Given the description of an element on the screen output the (x, y) to click on. 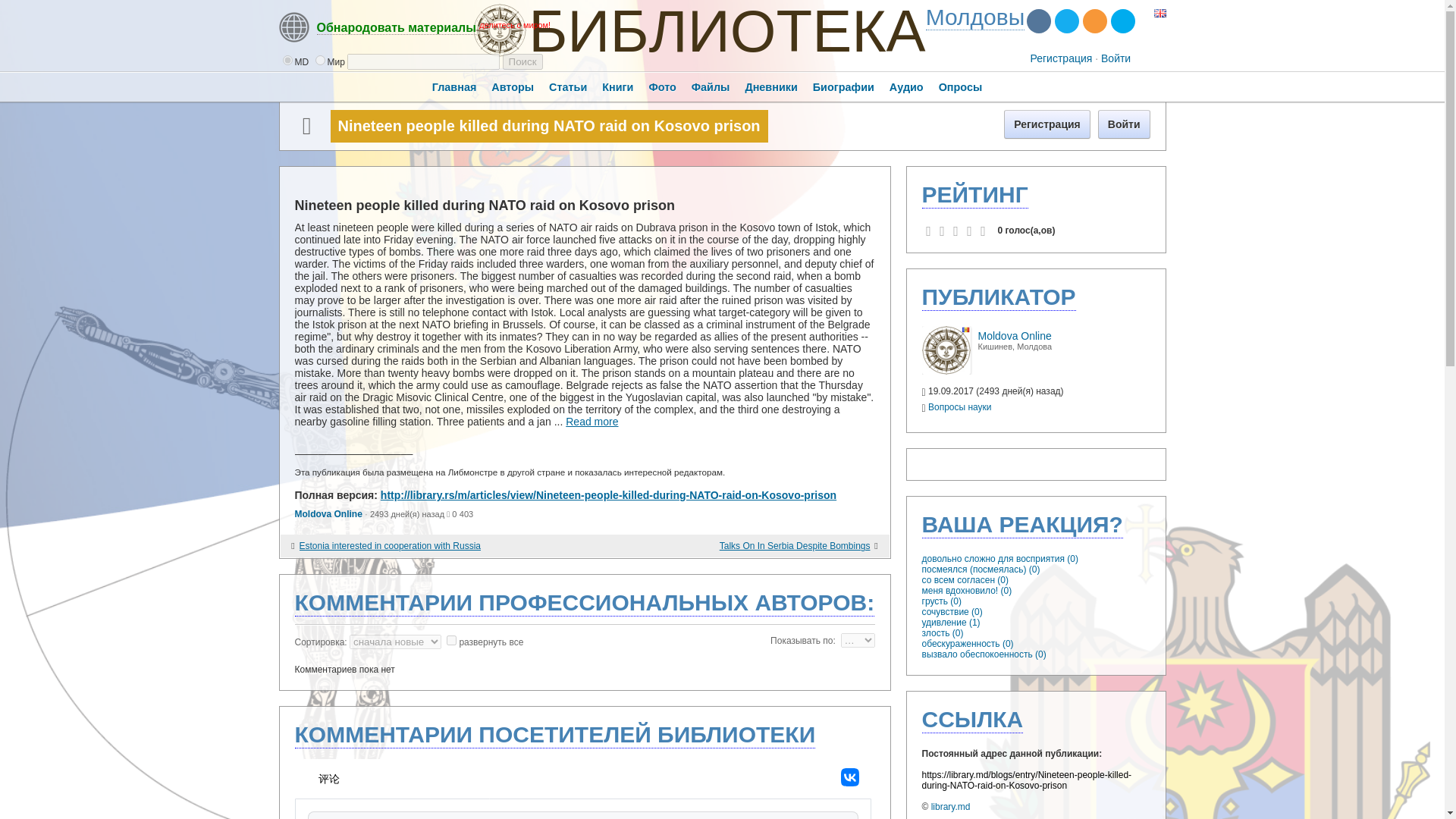
on (451, 640)
Talks On In Serbia Despite Bombings (766, 545)
International Library Network (975, 16)
Estonia interested in cooperation with Russia (402, 545)
Switch to English (1160, 14)
Moldova Online (946, 371)
0 (287, 60)
1 (319, 60)
Read more (591, 421)
